Given the description of an element on the screen output the (x, y) to click on. 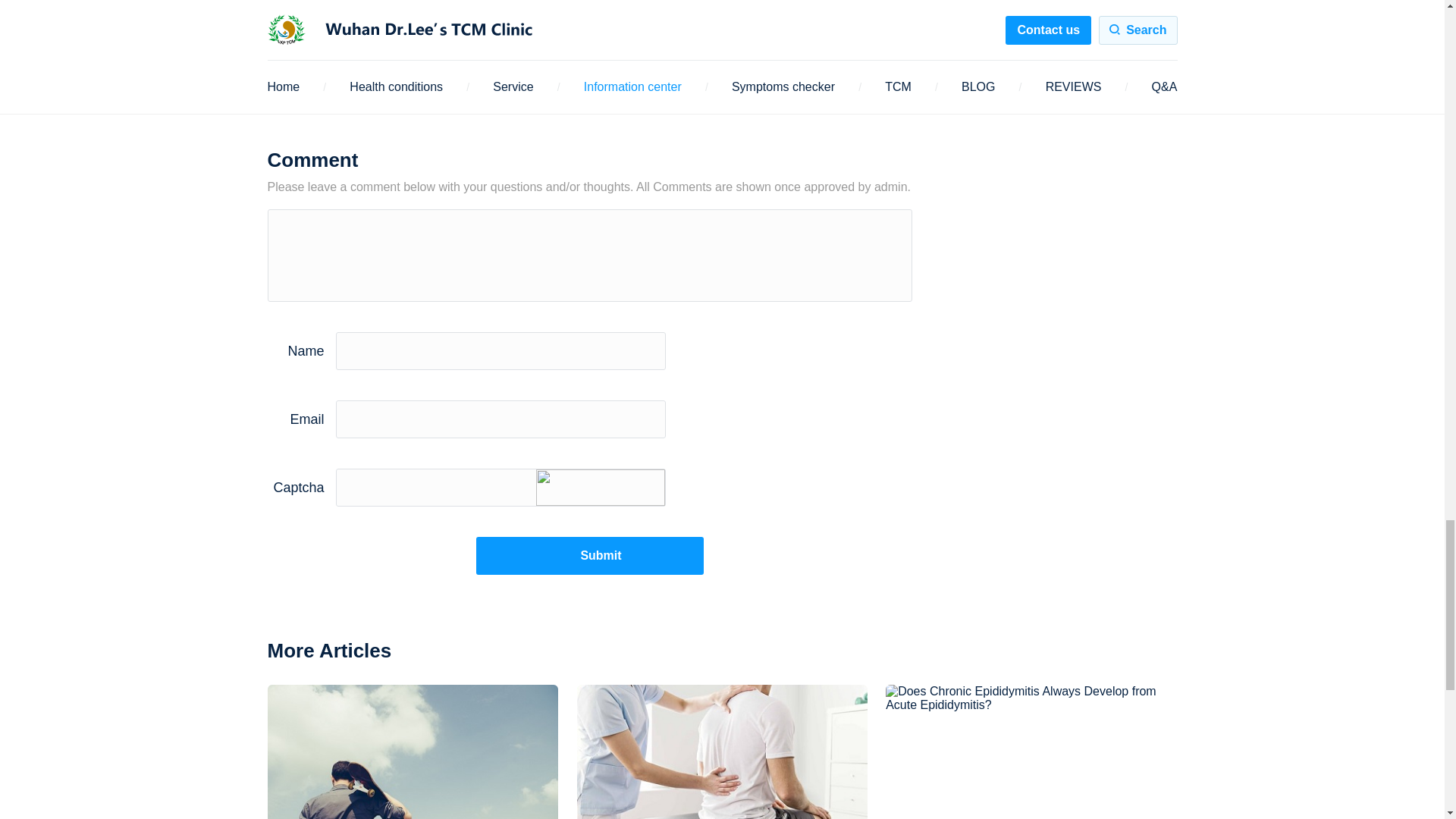
Can Epididymitis Lead to Testicular Necrosis? (412, 324)
Is It Difficult to Cure Epididymitis With Hard Lumps? (721, 207)
Can Epididymitis Lead to Testicular Necrosis? (412, 207)
Is It Difficult to Cure Epididymitis With Hard Lumps? (721, 324)
Will Epididymitis Persist? (433, 3)
SURE (478, 592)
